Given the description of an element on the screen output the (x, y) to click on. 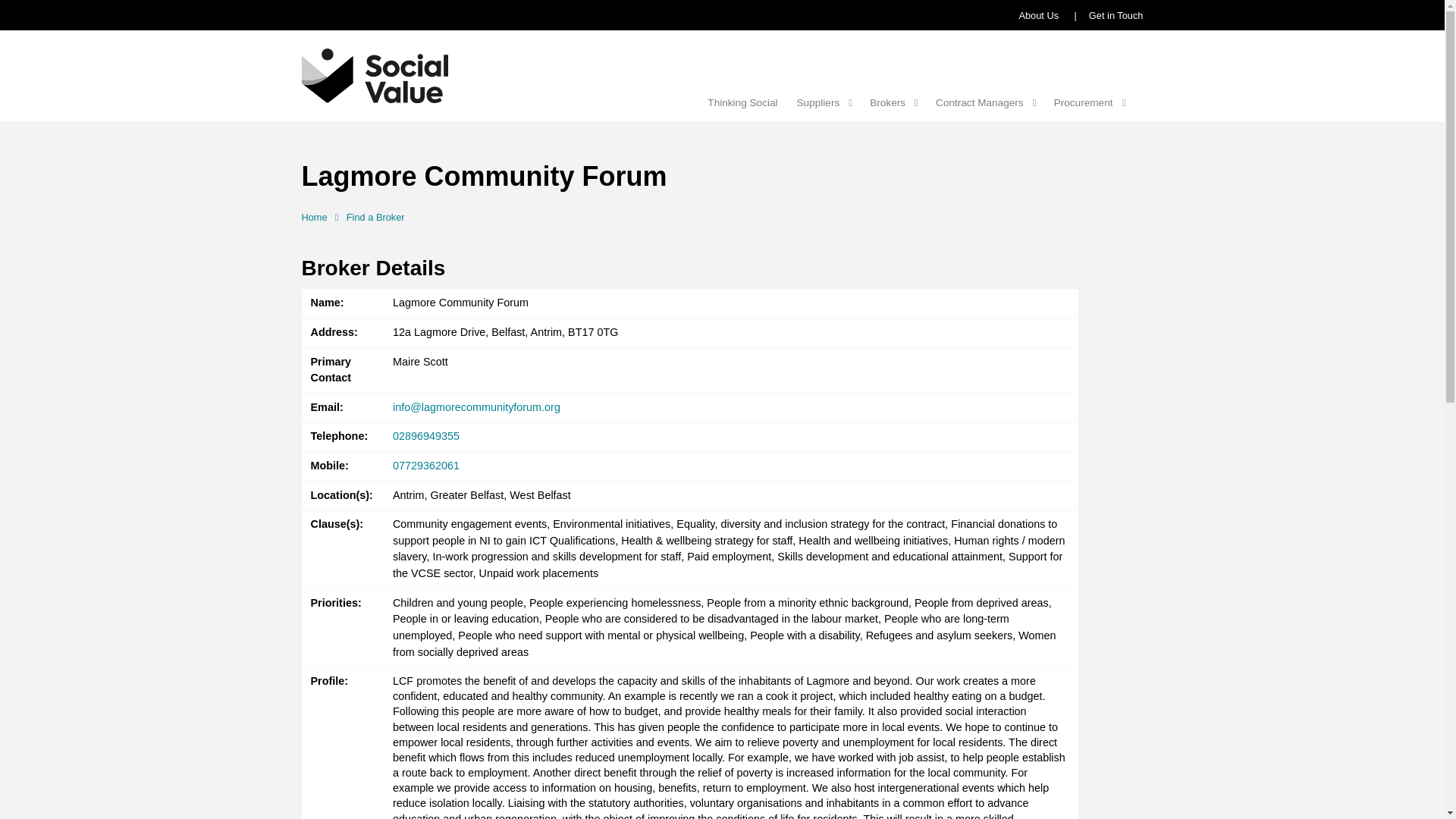
Get in Touch (1115, 15)
Brokers (887, 102)
Suppliers (818, 102)
Procurement (1083, 102)
About Us (1037, 15)
Thinking Social (742, 102)
Contract Managers (979, 102)
Visit Social Value NI Homepage (381, 74)
